Given the description of an element on the screen output the (x, y) to click on. 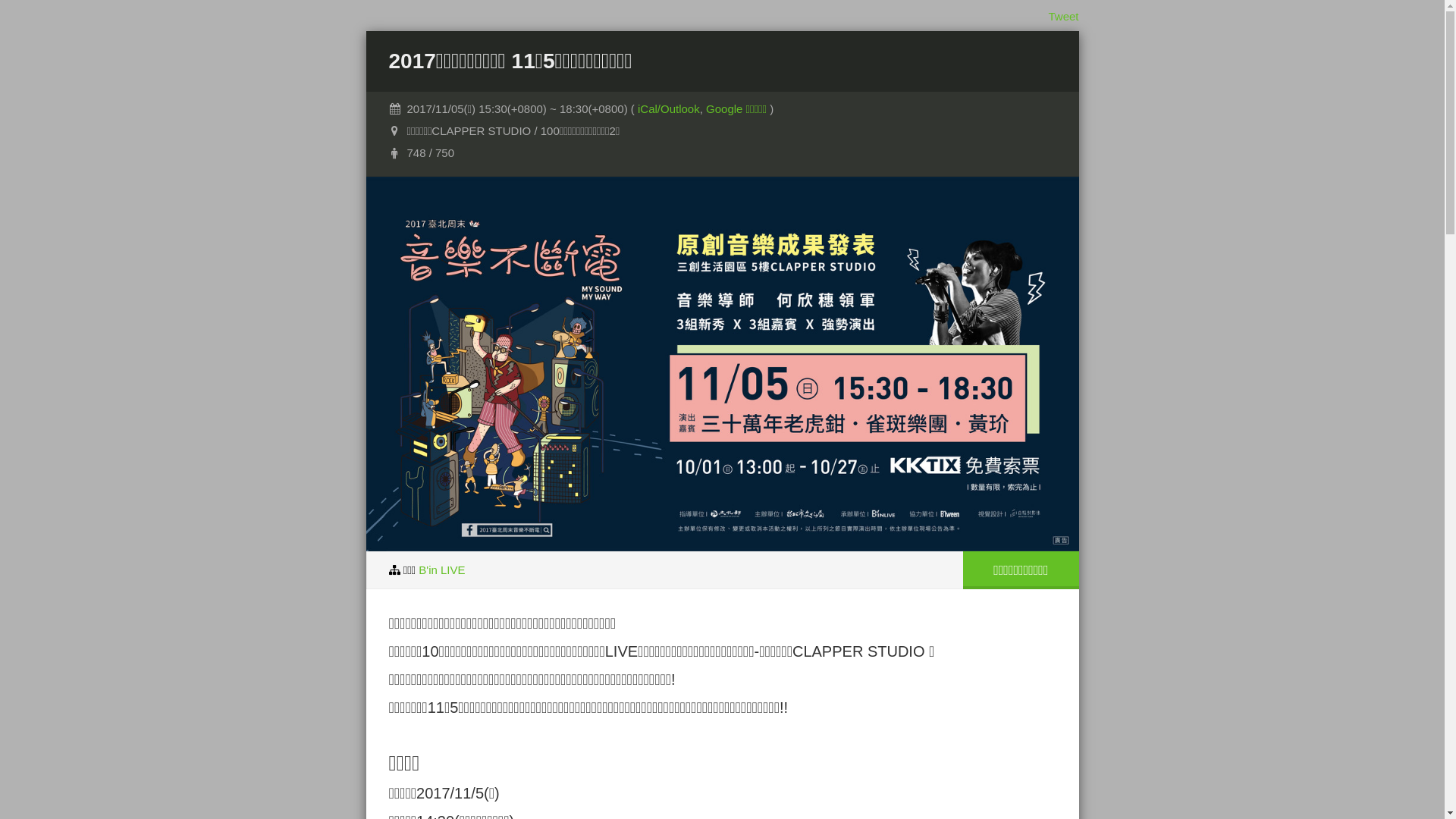
iCal/Outlook Element type: text (668, 108)
Tweet Element type: text (1063, 15)
B'in LIVE Element type: text (441, 568)
